Given the description of an element on the screen output the (x, y) to click on. 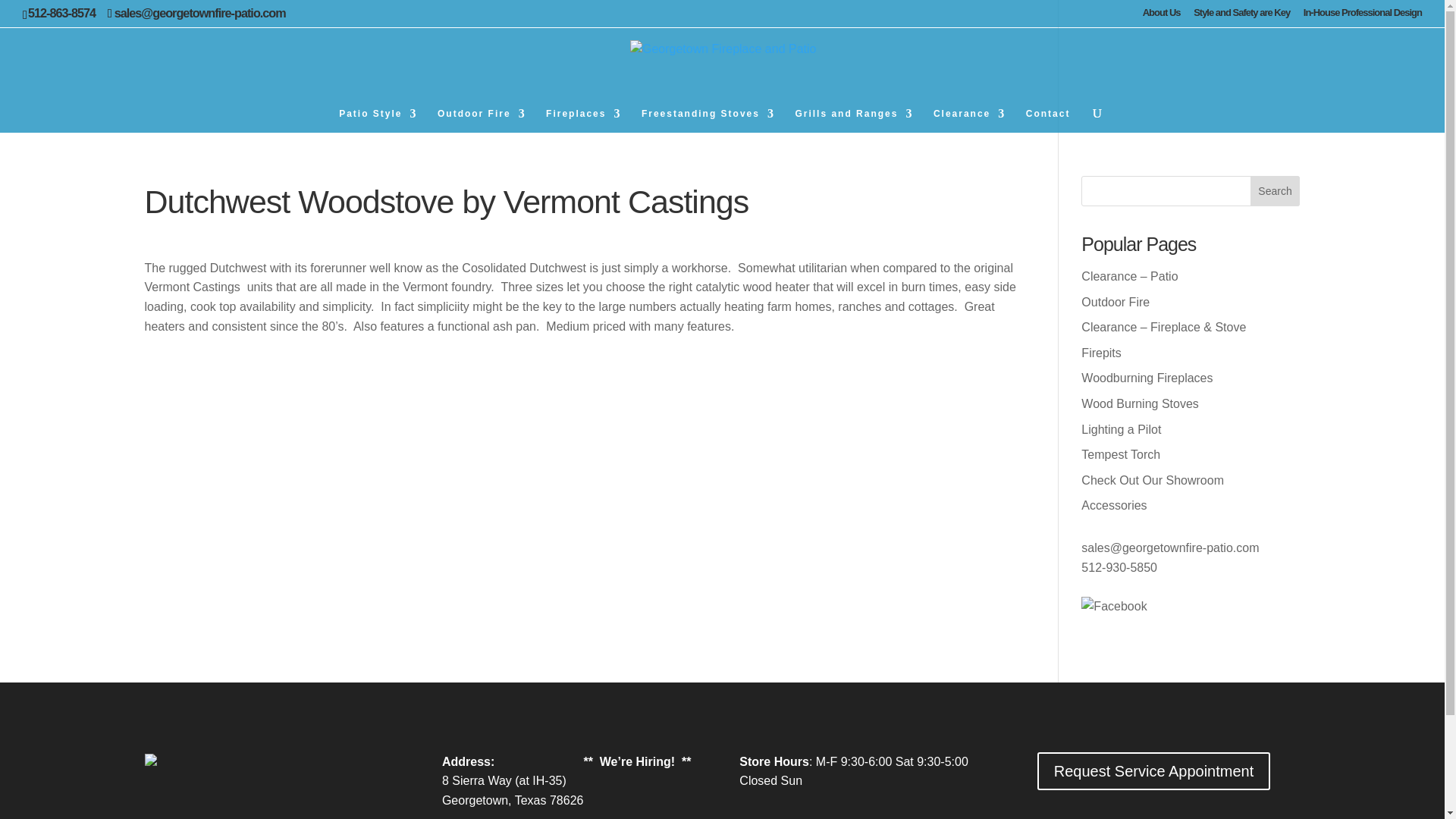
Freestanding Stoves (708, 119)
About Us (1161, 16)
Search (1275, 191)
Fireplaces (583, 119)
Patio Style (377, 119)
Contact (1048, 119)
Grills and Ranges (853, 119)
In-House Professional Design (1362, 16)
Clearance (969, 119)
Outdoor Fire (481, 119)
Style and Safety are Key (1241, 16)
